Given the description of an element on the screen output the (x, y) to click on. 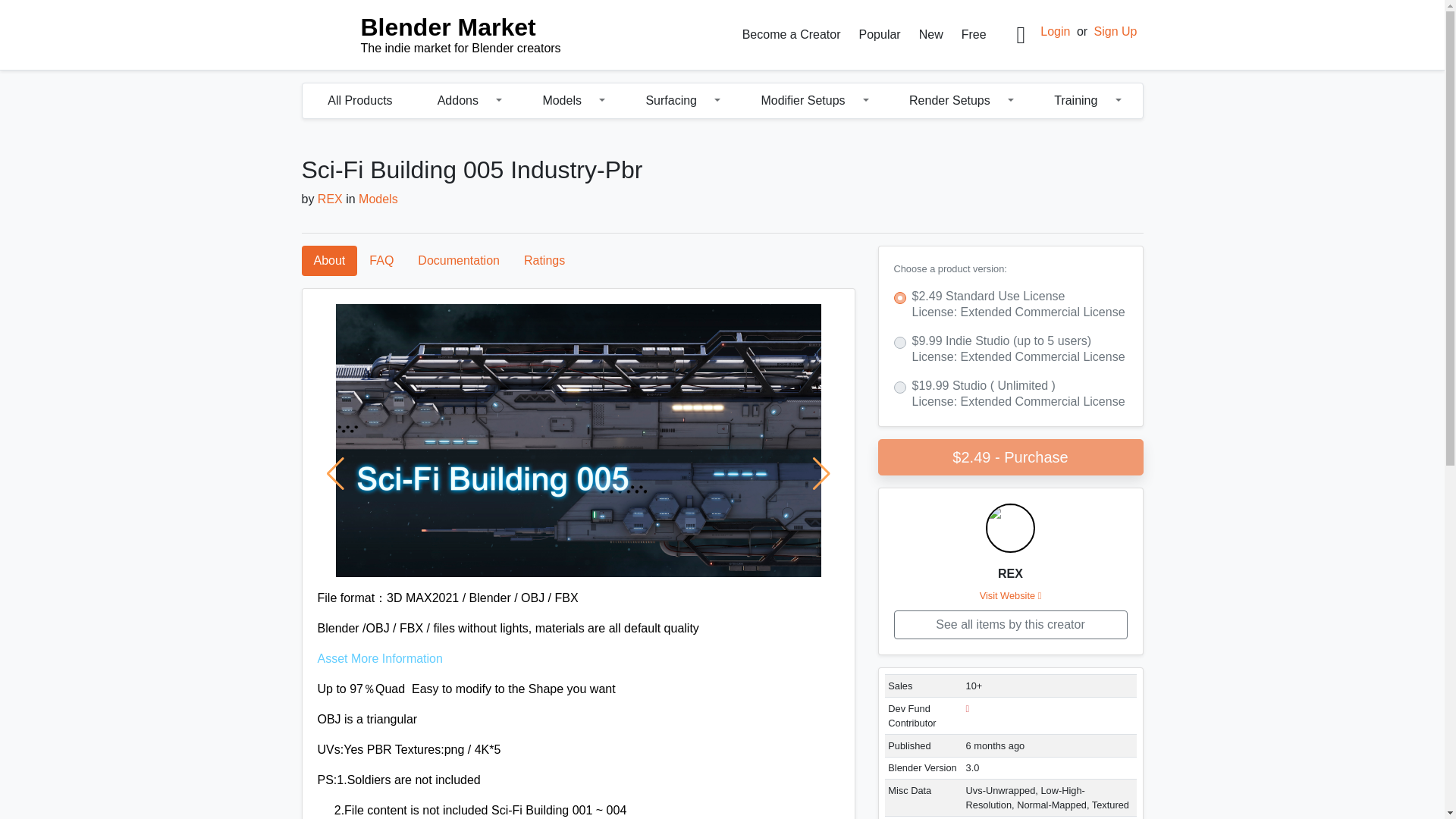
Popular (880, 34)
Toggle Dropdown - Addons (501, 100)
Addons (452, 100)
New (930, 34)
Become a Creator (791, 34)
Models (556, 100)
Toggle Dropdown - Models (605, 100)
All Products (359, 100)
Login (1055, 31)
Free (973, 34)
Sign Up (443, 34)
